Given the description of an element on the screen output the (x, y) to click on. 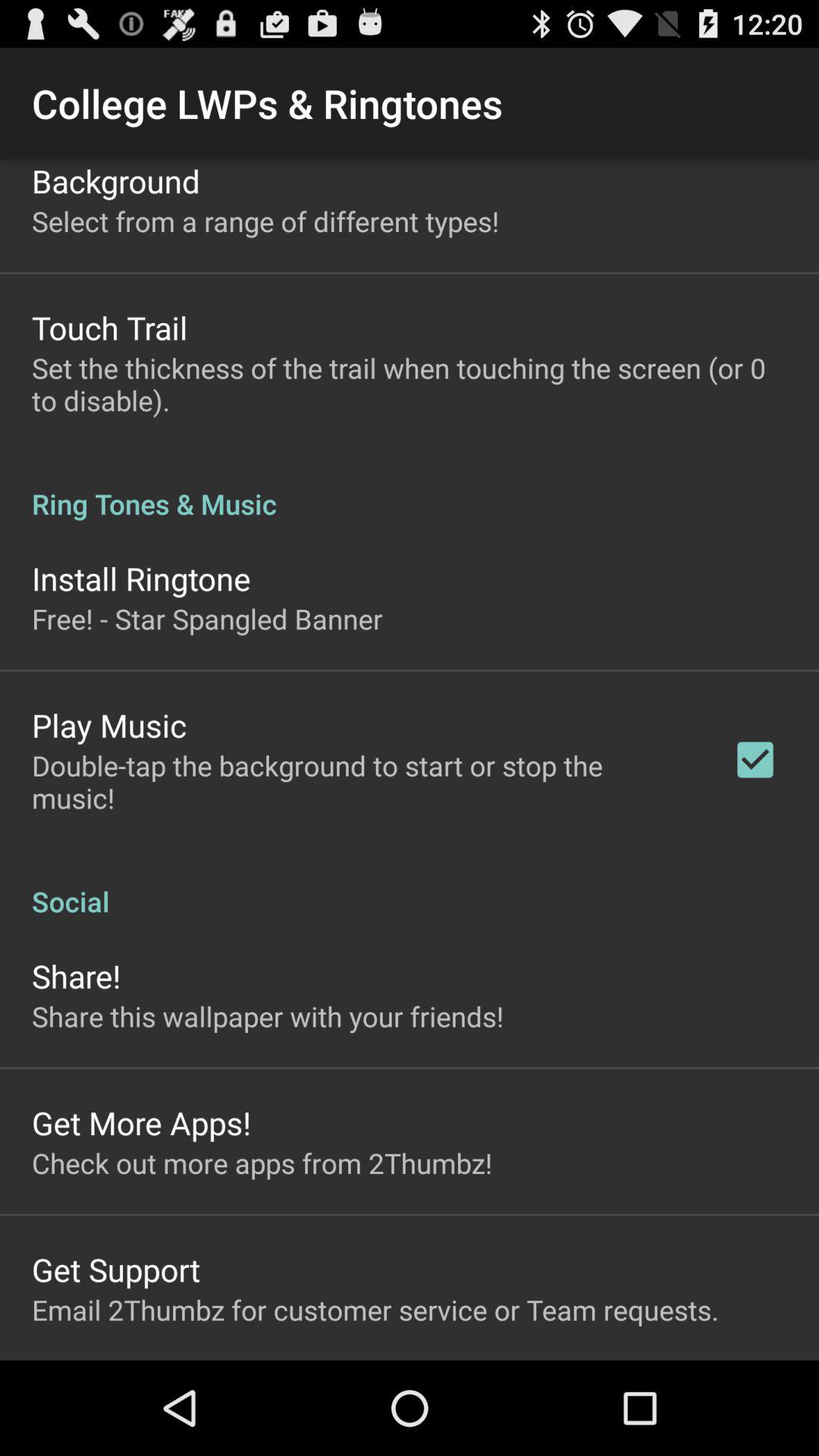
launch icon above the set the thickness (109, 327)
